Given the description of an element on the screen output the (x, y) to click on. 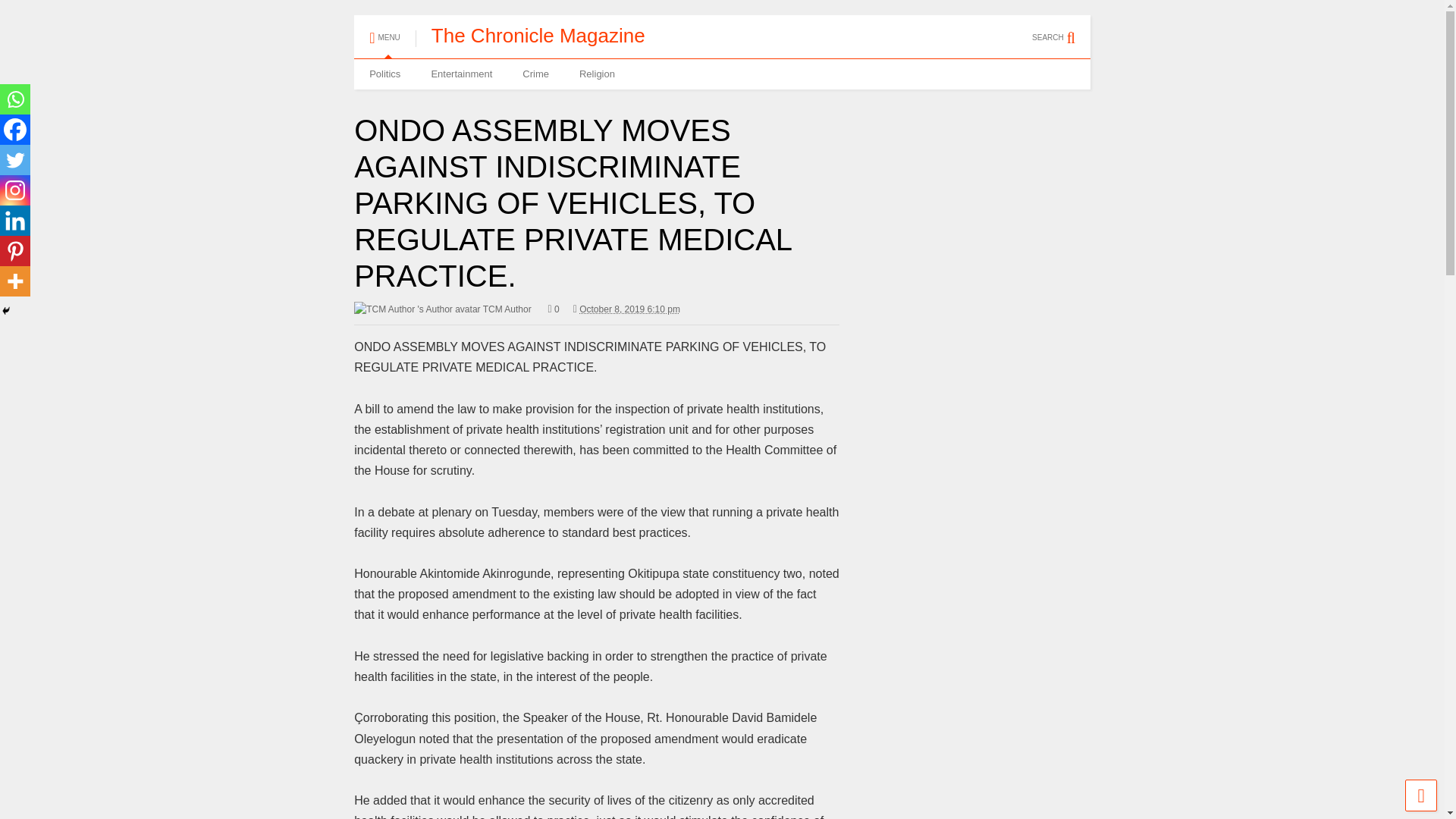
balanced and timely news (537, 35)
Religion (597, 73)
Whatsapp (15, 99)
Entertainment (460, 73)
Politics (383, 73)
SEARCH (1061, 30)
October 8, 2019 6:10 pm (629, 308)
TCM Author (442, 309)
Crime (535, 73)
October 8, 2019 6:10 pm (626, 309)
